Given the description of an element on the screen output the (x, y) to click on. 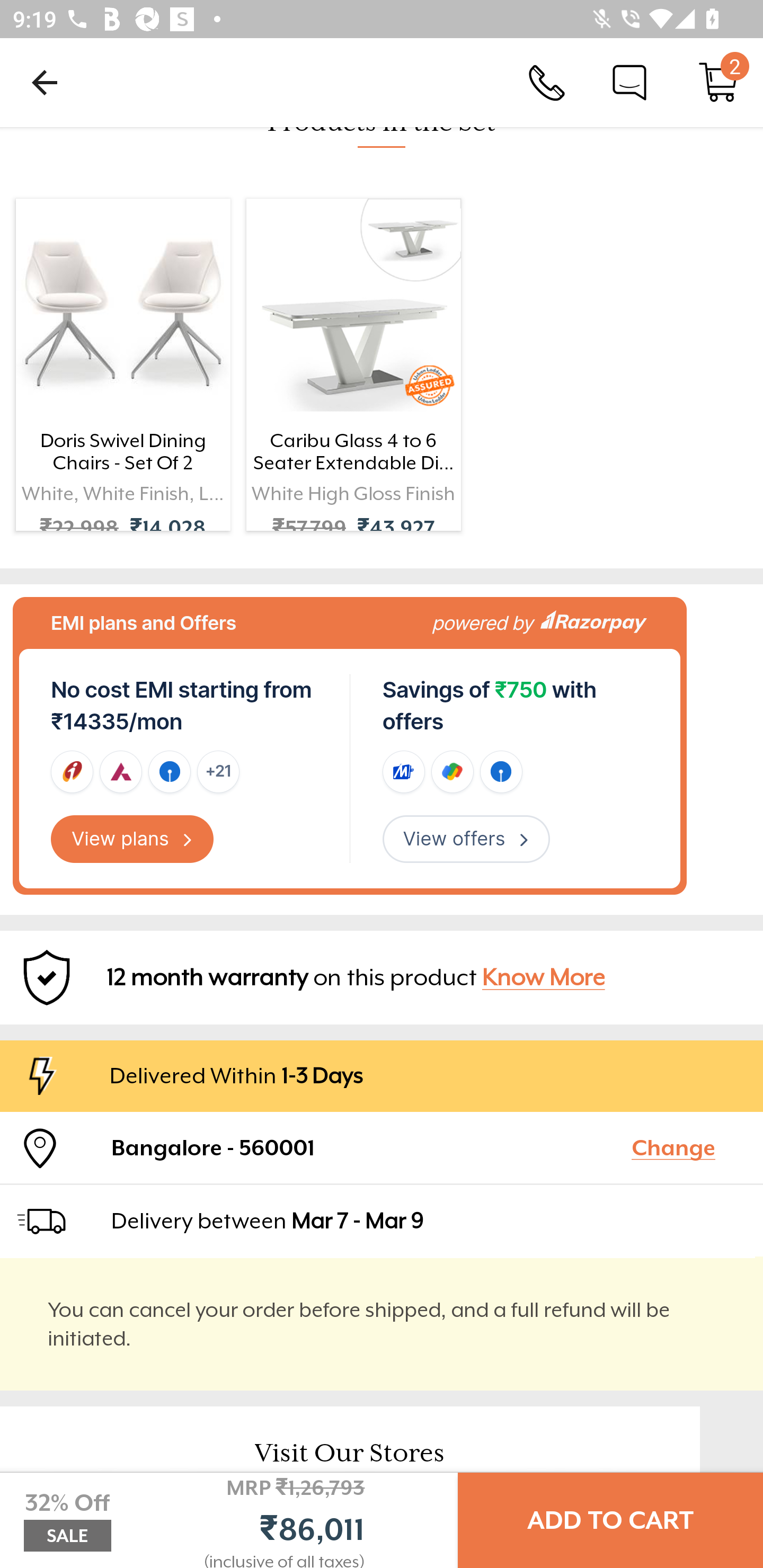
Navigate up (44, 82)
Call Us (546, 81)
Chat (629, 81)
Cart (718, 81)
View plans (132, 839)
View offers (465, 839)
12 month warranty on this product Know More (381, 977)
 Bangalore - 560001 Change (381, 1147)
Delivery between Mar 7 - Mar 9 (428, 1220)
ADD TO CART (610, 1520)
See all 6 stores in Bangalore (262, 1556)
